Given the description of an element on the screen output the (x, y) to click on. 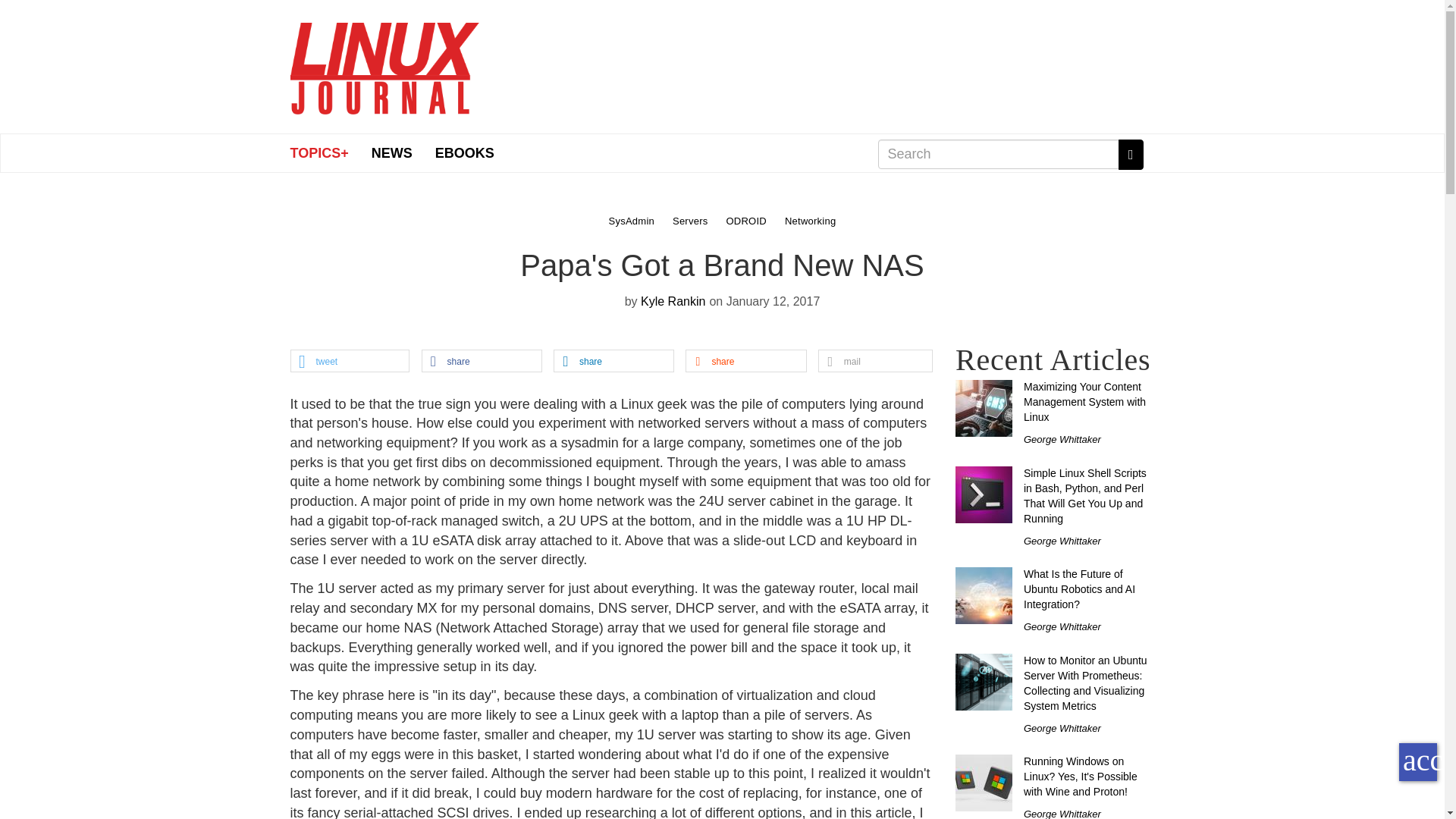
Share on Twitter (350, 361)
EBOOKS (464, 152)
share (745, 361)
Servers (691, 220)
mail (874, 361)
Networking (810, 220)
Share on Reddit (745, 361)
NEWS (391, 152)
share (613, 361)
Maximizing Your Content Management System with Linux (1084, 401)
share (481, 361)
George Whittaker (1061, 439)
Enter the terms you wish to search for. (998, 153)
View user profile. (672, 300)
SysAdmin (631, 220)
